Given the description of an element on the screen output the (x, y) to click on. 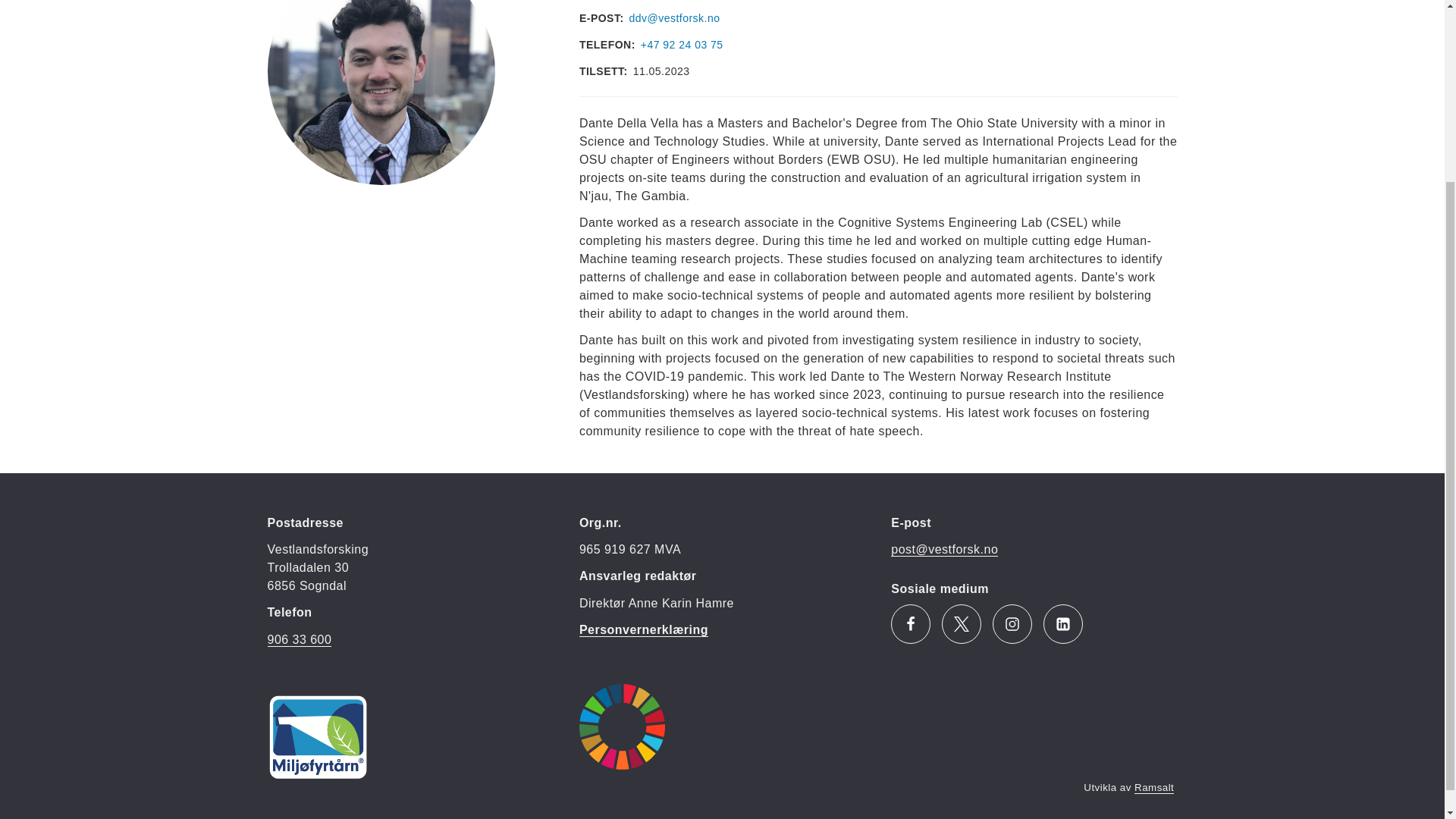
LinkedIn (1063, 623)
Ramsalt (1153, 787)
SDG logo (622, 726)
906 33 600 (298, 640)
Facebook (910, 623)
Miljofyrtarn norsk (317, 736)
Instagram (1012, 623)
Twitter (961, 623)
